Given the description of an element on the screen output the (x, y) to click on. 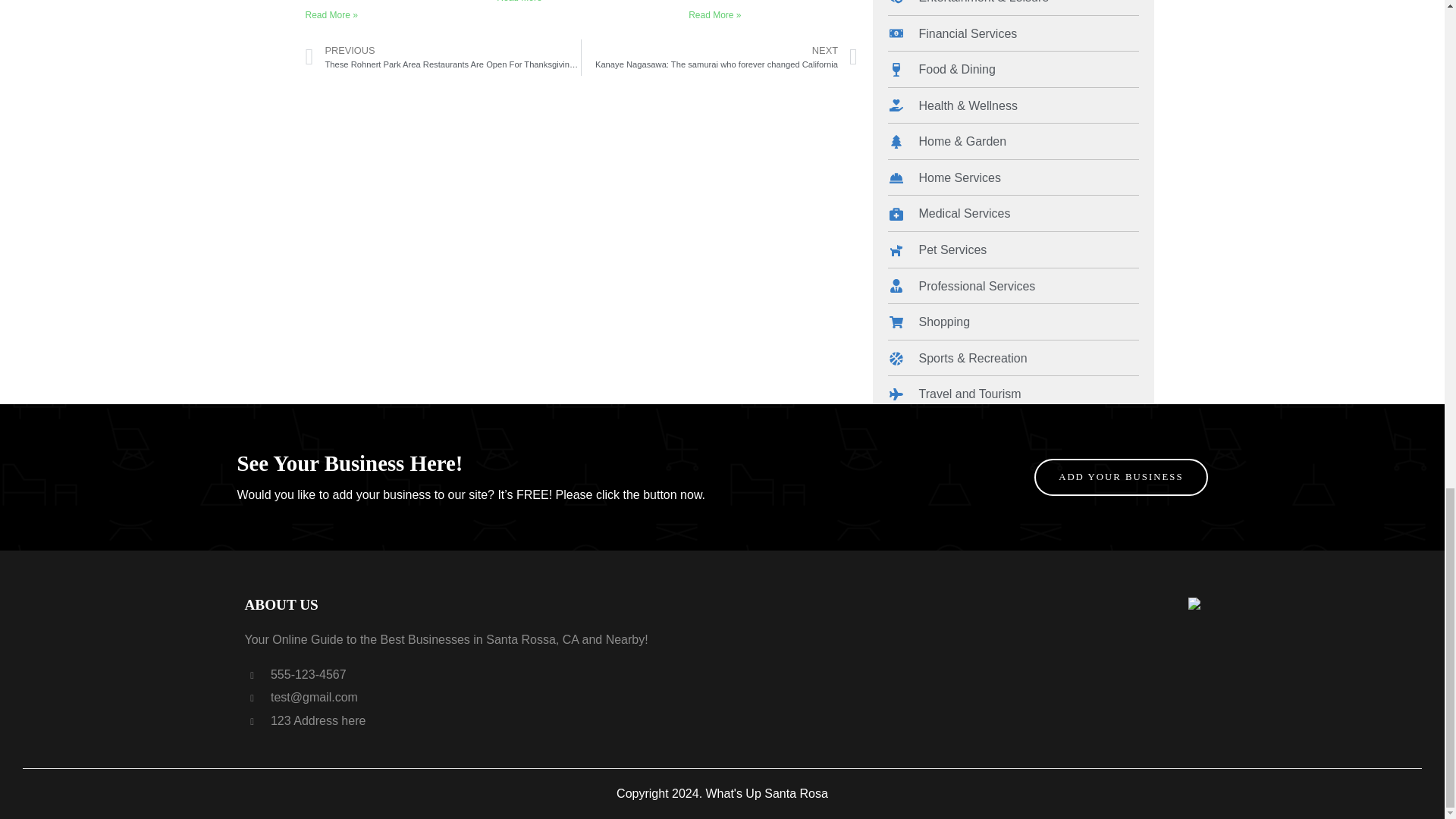
555-123-4567 (295, 674)
ADD YOUR BUSINESS (1120, 476)
